Given the description of an element on the screen output the (x, y) to click on. 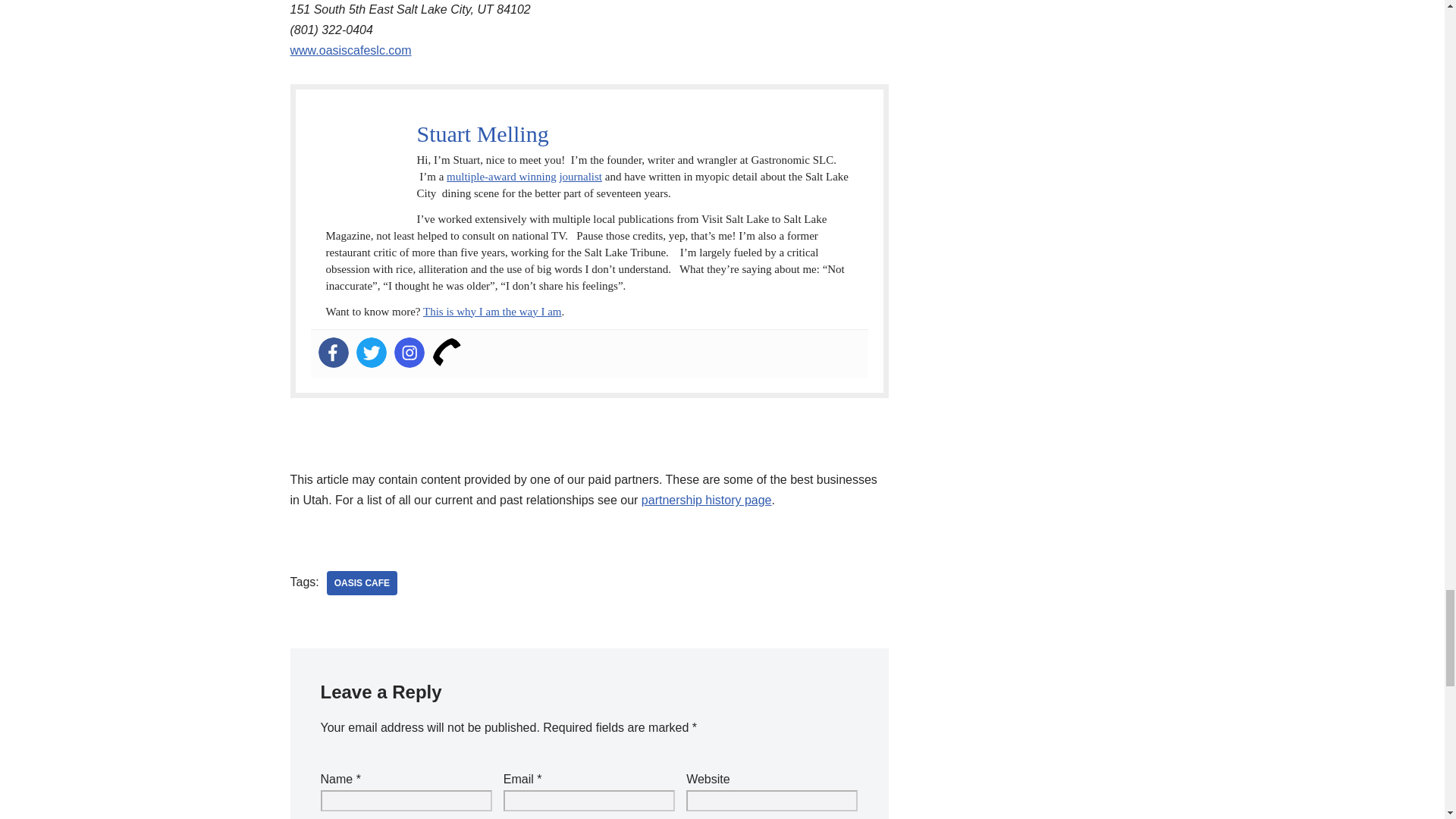
This is why I am the way I am (491, 311)
multiple-award winning journalist (524, 176)
Stuart Melling (482, 133)
www.oasiscafeslc.com (349, 50)
Facebook (333, 352)
